Given the description of an element on the screen output the (x, y) to click on. 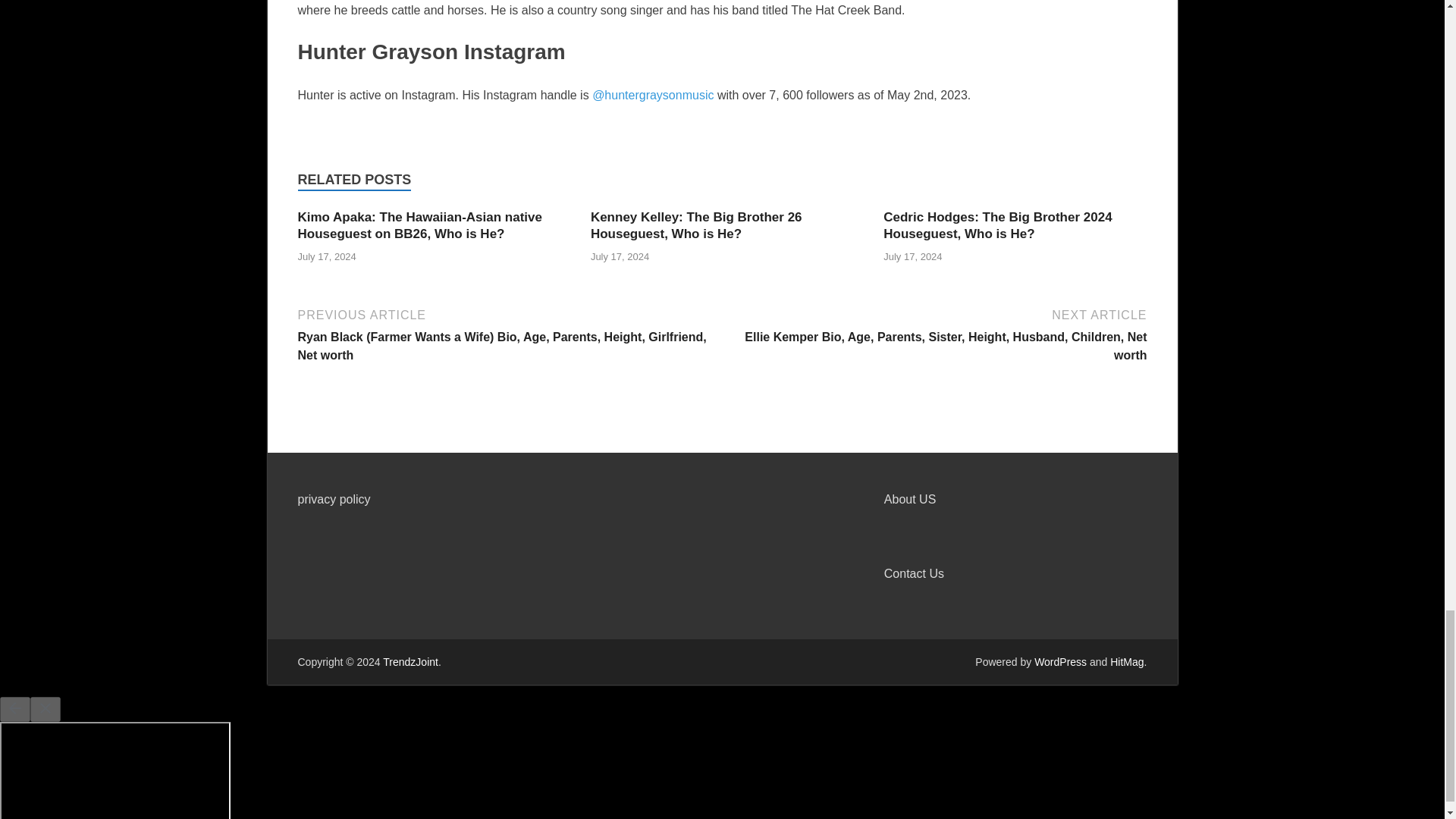
Cedric Hodges: The Big Brother 2024 Houseguest, Who is He? (997, 224)
Cedric Hodges: The Big Brother 2024 Houseguest, Who is He? (997, 224)
Contact Us (913, 573)
Kenney Kelley: The Big Brother 26 Houseguest, Who is He? (696, 224)
Kenney Kelley: The Big Brother 26 Houseguest, Who is He? (696, 224)
privacy policy (333, 499)
WordPress (1059, 662)
HitMag (1125, 662)
About US (909, 499)
TrendzJoint (410, 662)
